Given the description of an element on the screen output the (x, y) to click on. 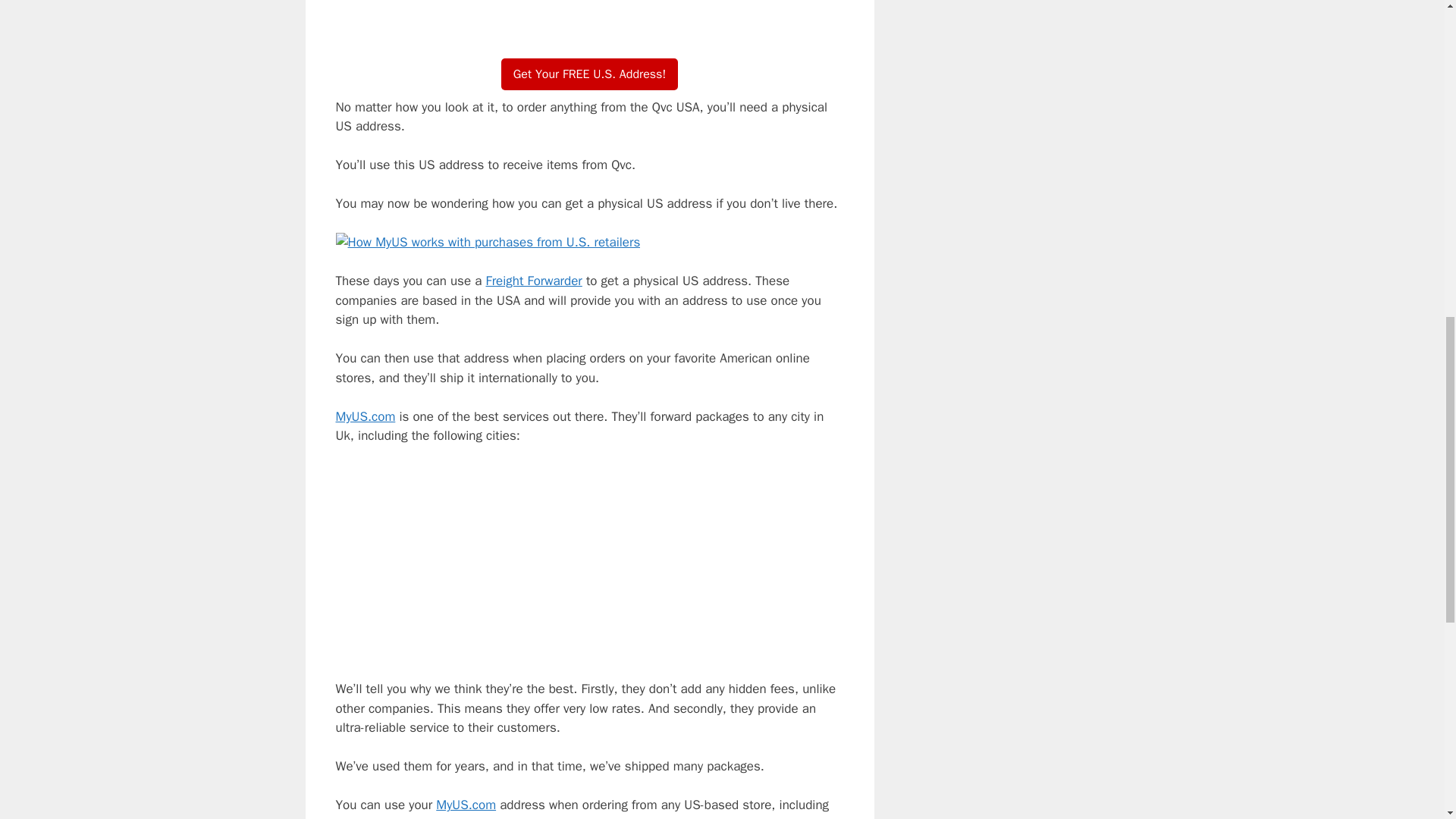
MyUS.com (465, 804)
MyUS.com (364, 416)
Freight Forwarder (532, 280)
Get Your FREE U.S. Address! (589, 74)
MyUS.com: How it Works (588, 16)
